Given the description of an element on the screen output the (x, y) to click on. 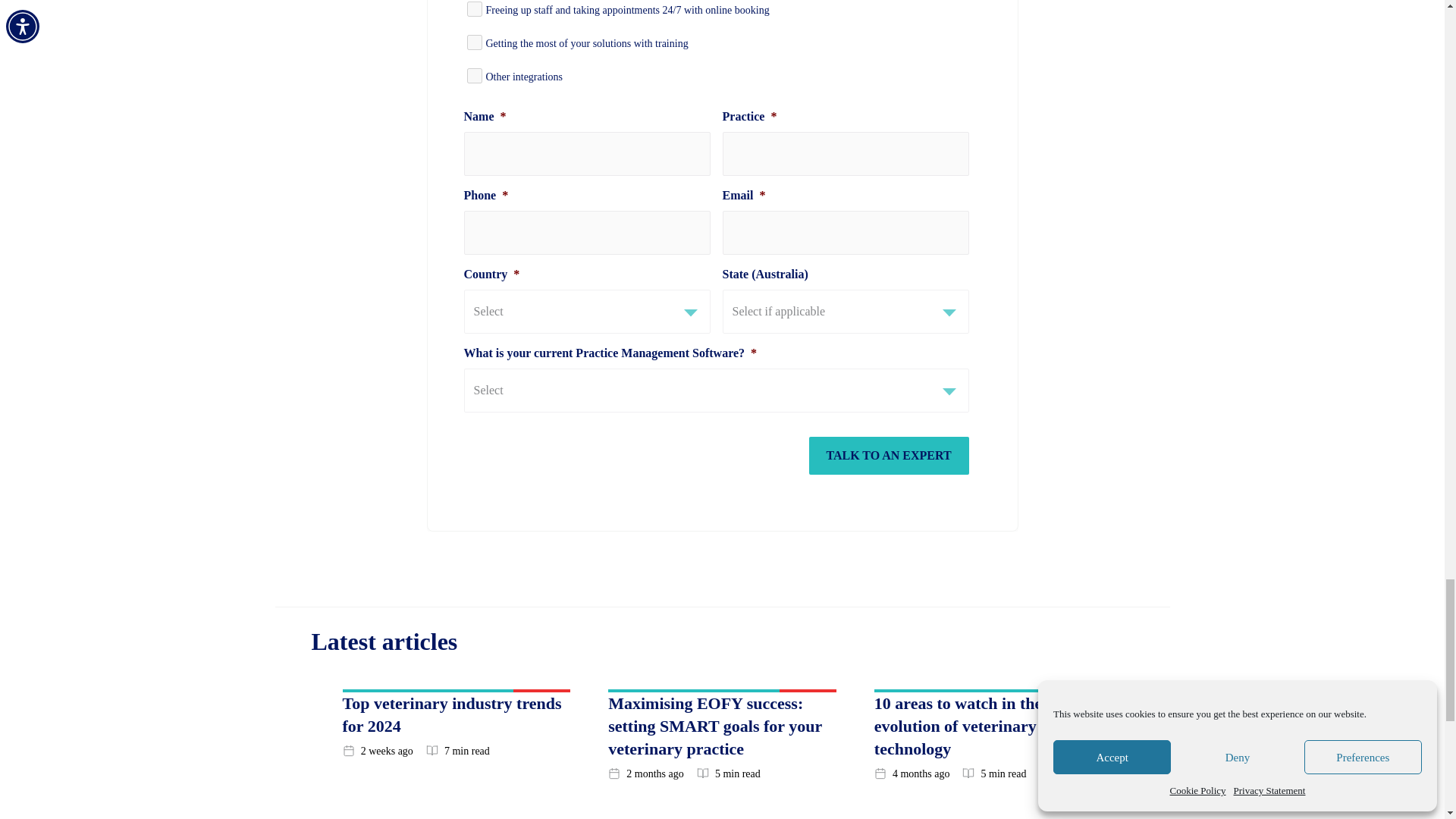
Hardware (474, 8)
TALK TO AN EXPERT (889, 455)
Other integrations (474, 75)
Training (474, 42)
